Given the description of an element on the screen output the (x, y) to click on. 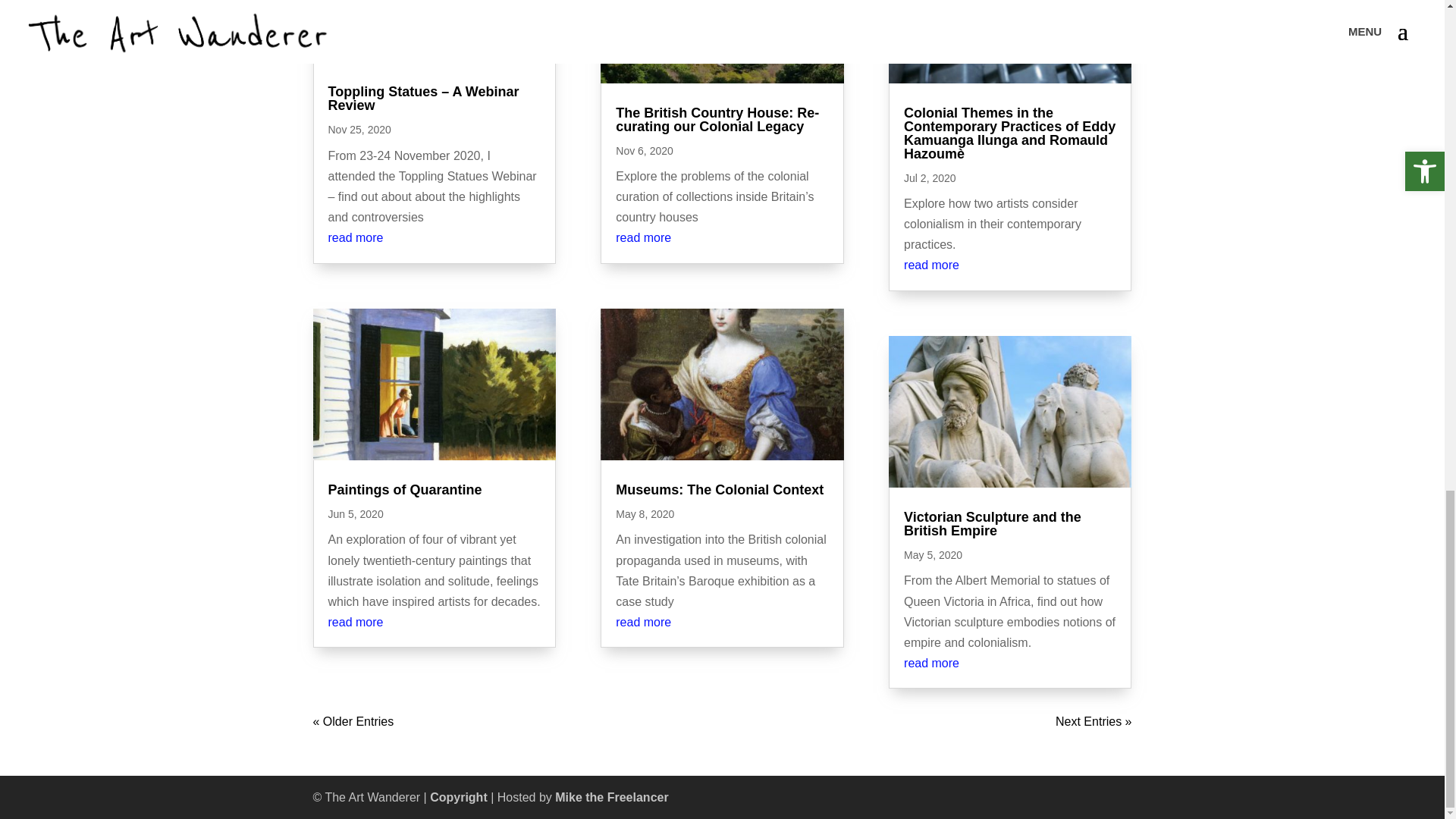
read more (354, 237)
read more (354, 621)
Paintings of Quarantine (404, 489)
